Given the description of an element on the screen output the (x, y) to click on. 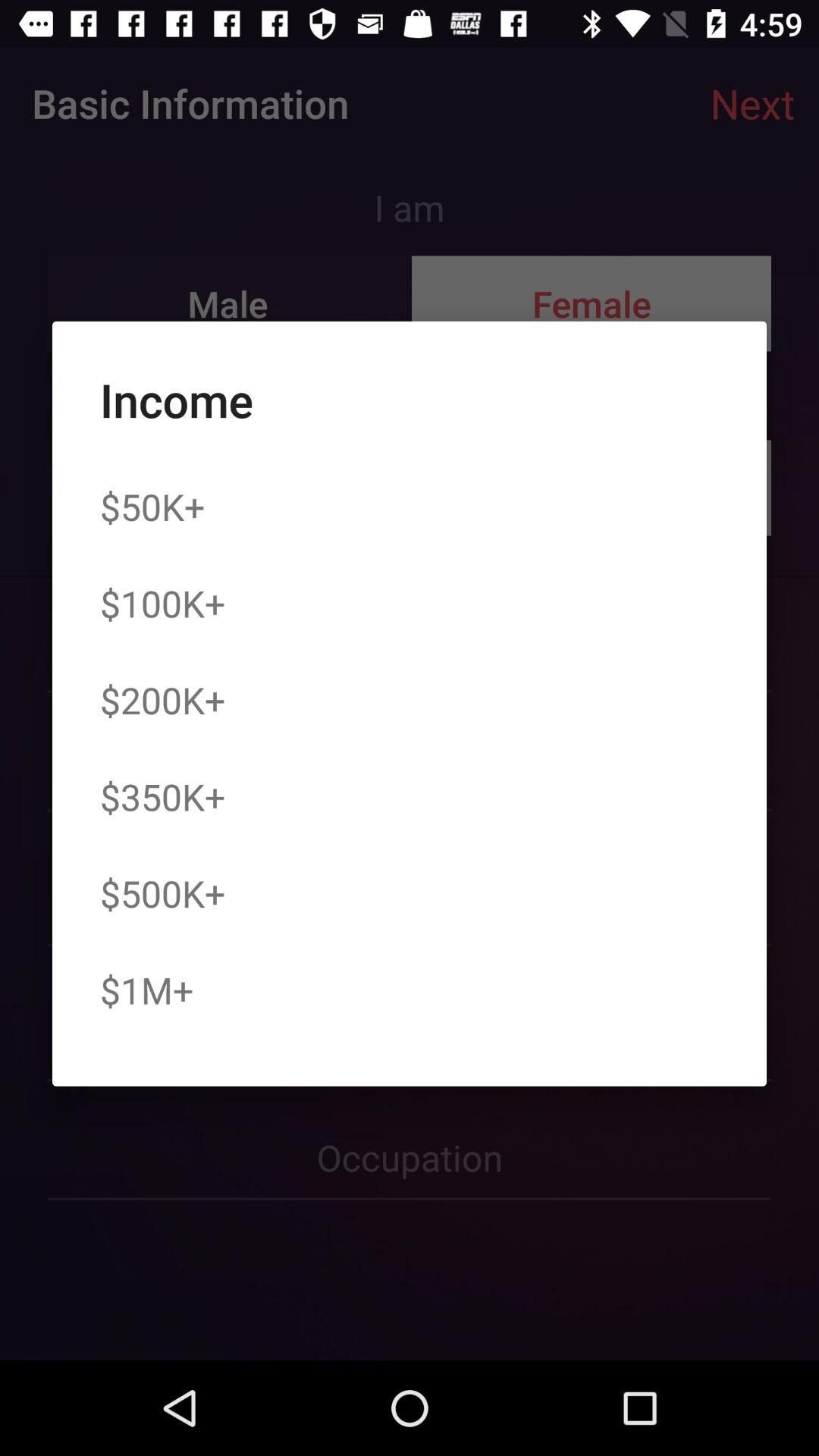
press icon below $500k+ item (146, 989)
